Given the description of an element on the screen output the (x, y) to click on. 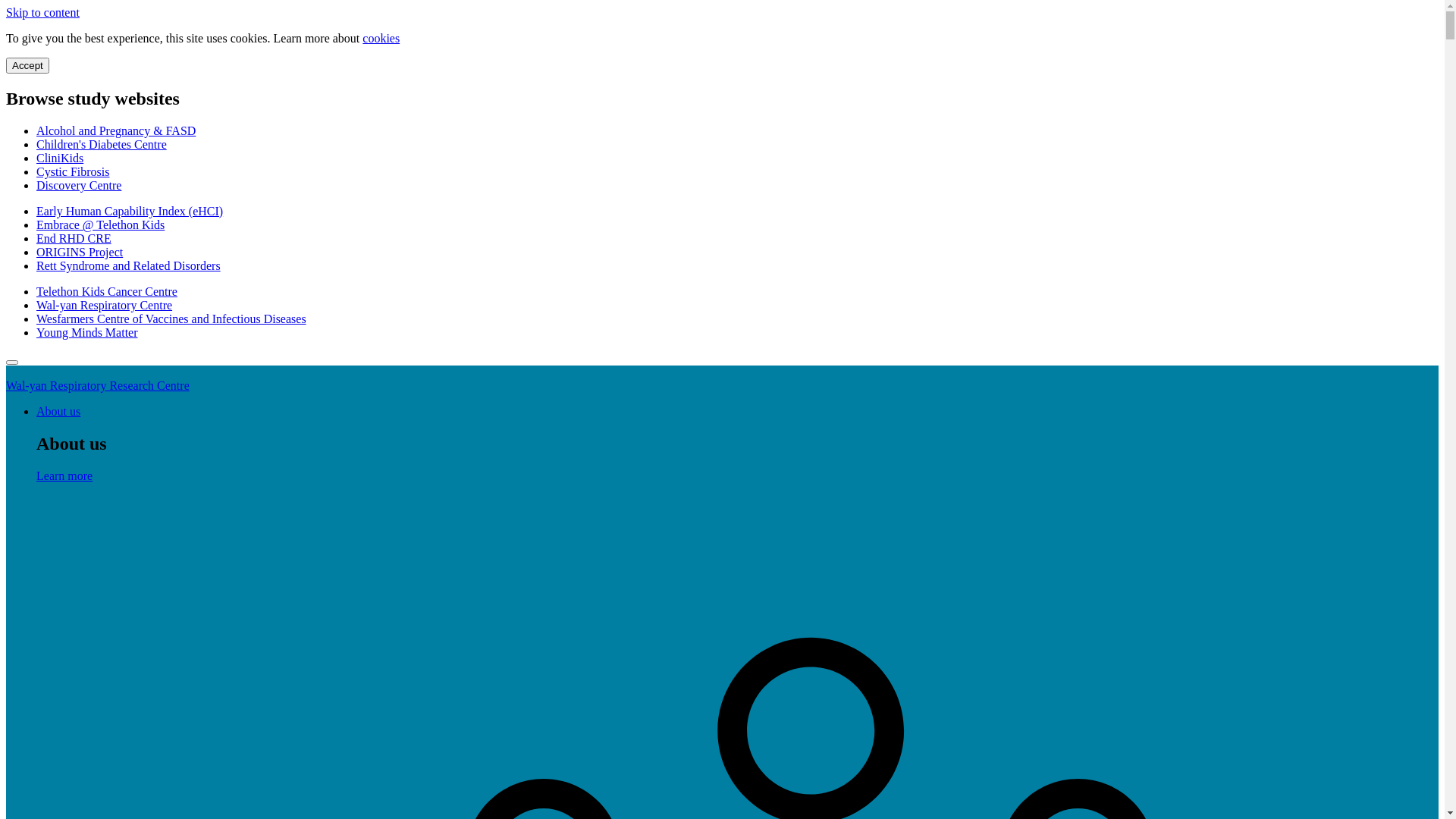
Children's Diabetes Centre Element type: text (101, 144)
ORIGINS Project Element type: text (79, 251)
Wal-yan Respiratory Centre Element type: text (104, 304)
Early Human Capability Index (eHCI) Element type: text (129, 210)
Telethon Kids Cancer Centre Element type: text (106, 291)
Cystic Fibrosis Element type: text (72, 171)
Wesfarmers Centre of Vaccines and Infectious Diseases Element type: text (171, 318)
Learn more Element type: text (64, 475)
Alcohol and Pregnancy & FASD Element type: text (115, 130)
Accept Element type: text (27, 65)
Wal-yan Respiratory Research Centre Element type: text (97, 385)
Rett Syndrome and Related Disorders Element type: text (128, 265)
Young Minds Matter Element type: text (87, 332)
Discovery Centre Element type: text (78, 184)
Embrace @ Telethon Kids Element type: text (100, 224)
End RHD CRE Element type: text (73, 238)
cookies Element type: text (380, 37)
CliniKids Element type: text (59, 157)
About us Element type: text (58, 410)
Skip to content Element type: text (42, 12)
